Given the description of an element on the screen output the (x, y) to click on. 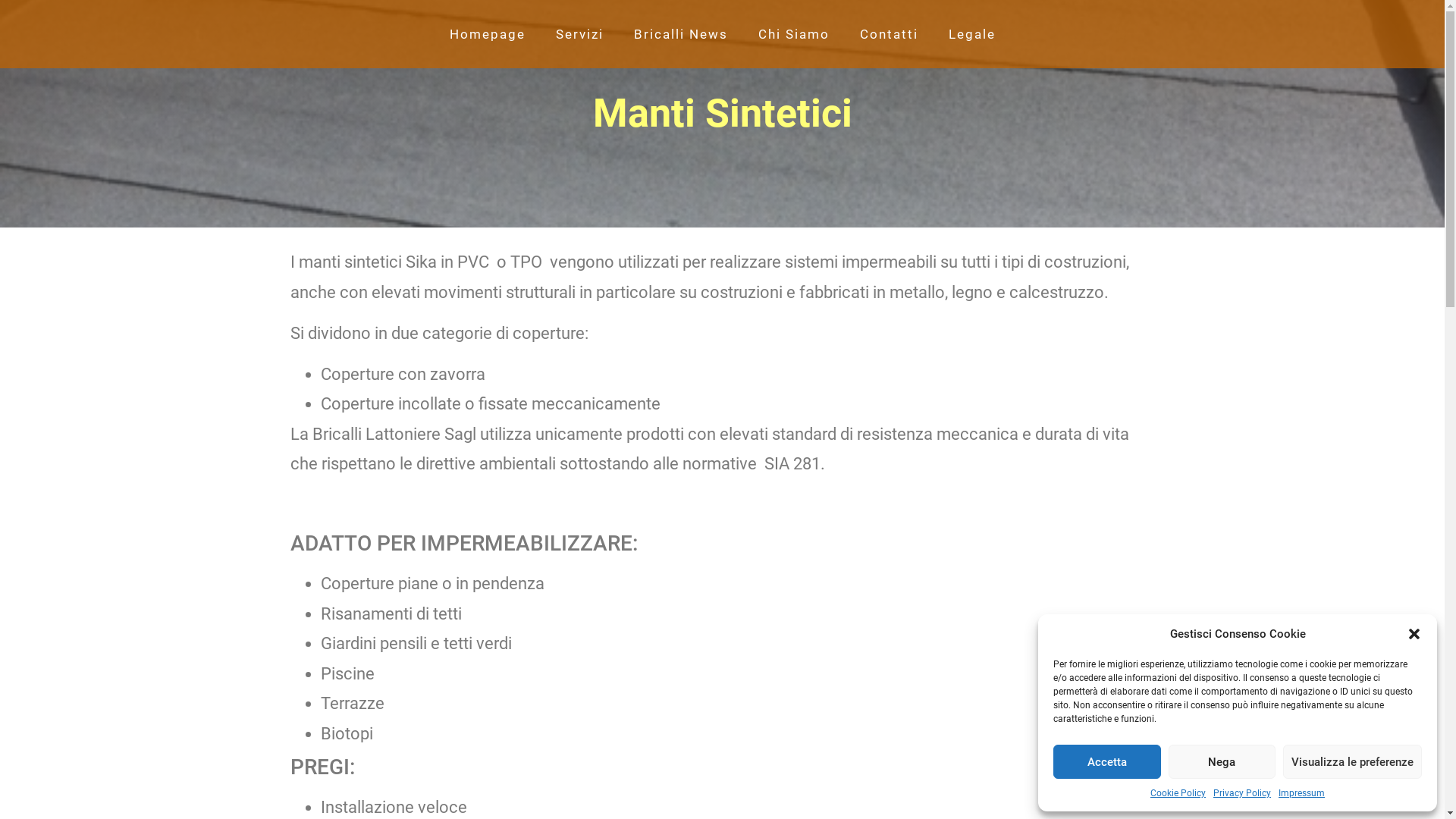
Homepage Element type: text (486, 34)
Bricalli News Element type: text (680, 34)
Servizi Element type: text (578, 34)
Chi Siamo Element type: text (793, 34)
Accetta Element type: text (1107, 761)
Nega Element type: text (1221, 761)
Contatti Element type: text (888, 34)
Cookie Policy Element type: text (1177, 793)
Legale Element type: text (971, 34)
Impressum Element type: text (1301, 793)
Visualizza le preferenze Element type: text (1352, 761)
Privacy Policy Element type: text (1241, 793)
